Given the description of an element on the screen output the (x, y) to click on. 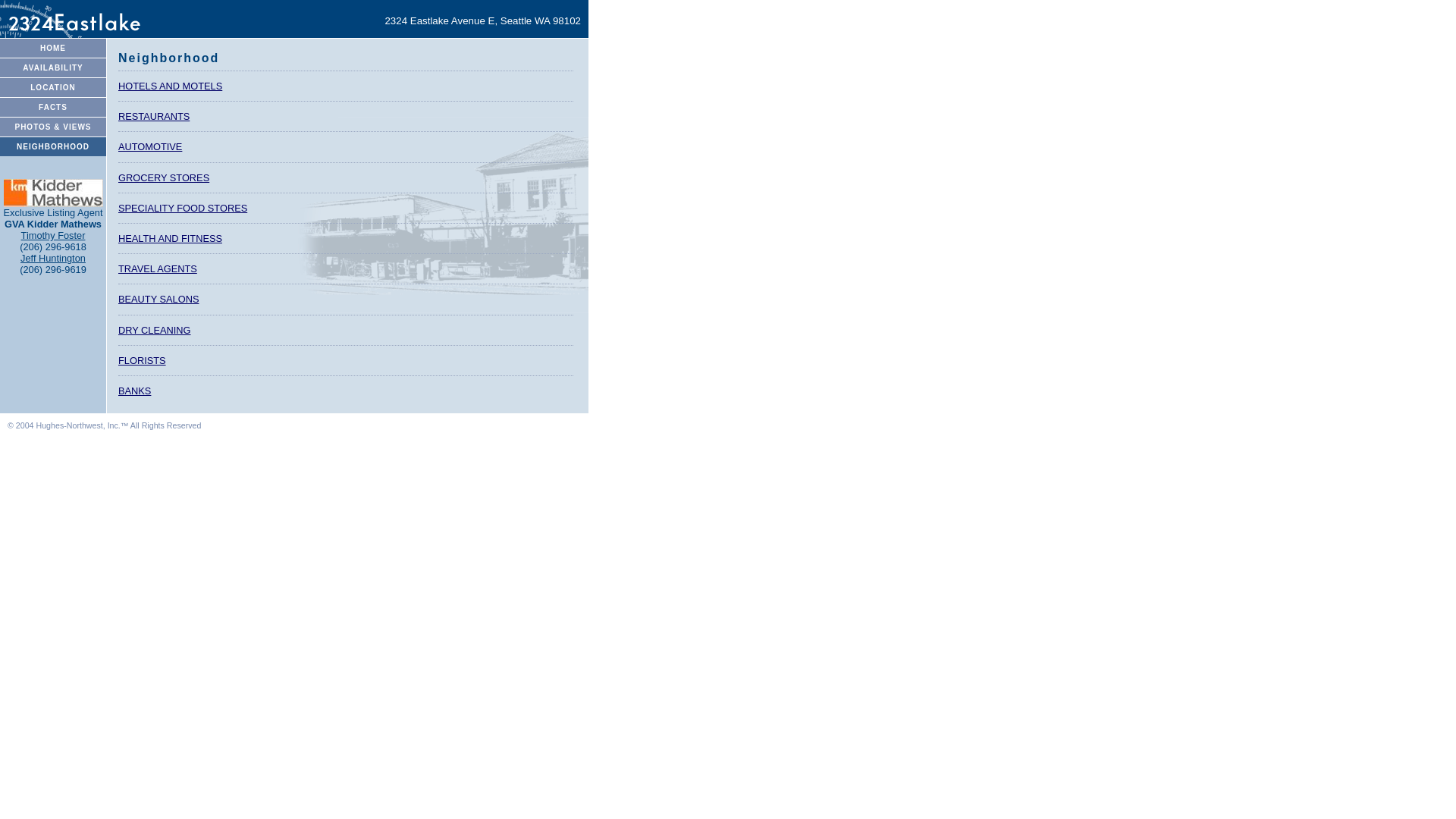
TRAVEL AGENTS Element type: text (345, 268)
FACTS Element type: text (53, 106)
HEALTH AND FITNESS Element type: text (345, 237)
RESTAURANTS Element type: text (345, 115)
NEIGHBORHOOD Element type: text (53, 146)
Jeff Huntington Element type: text (52, 257)
DRY CLEANING Element type: text (345, 328)
HOTELS AND MOTELS Element type: text (345, 85)
BEAUTY SALONS Element type: text (345, 298)
LOCATION Element type: text (53, 87)
Timothy Foster Element type: text (53, 235)
SPECIALITY FOOD STORES Element type: text (345, 207)
PHOTOS & VIEWS Element type: text (53, 126)
GROCERY STORES Element type: text (345, 177)
HOME Element type: text (53, 47)
FLORISTS Element type: text (345, 360)
BANKS Element type: text (345, 390)
AVAILABILITY Element type: text (53, 67)
AUTOMOTIVE Element type: text (345, 146)
